Given the description of an element on the screen output the (x, y) to click on. 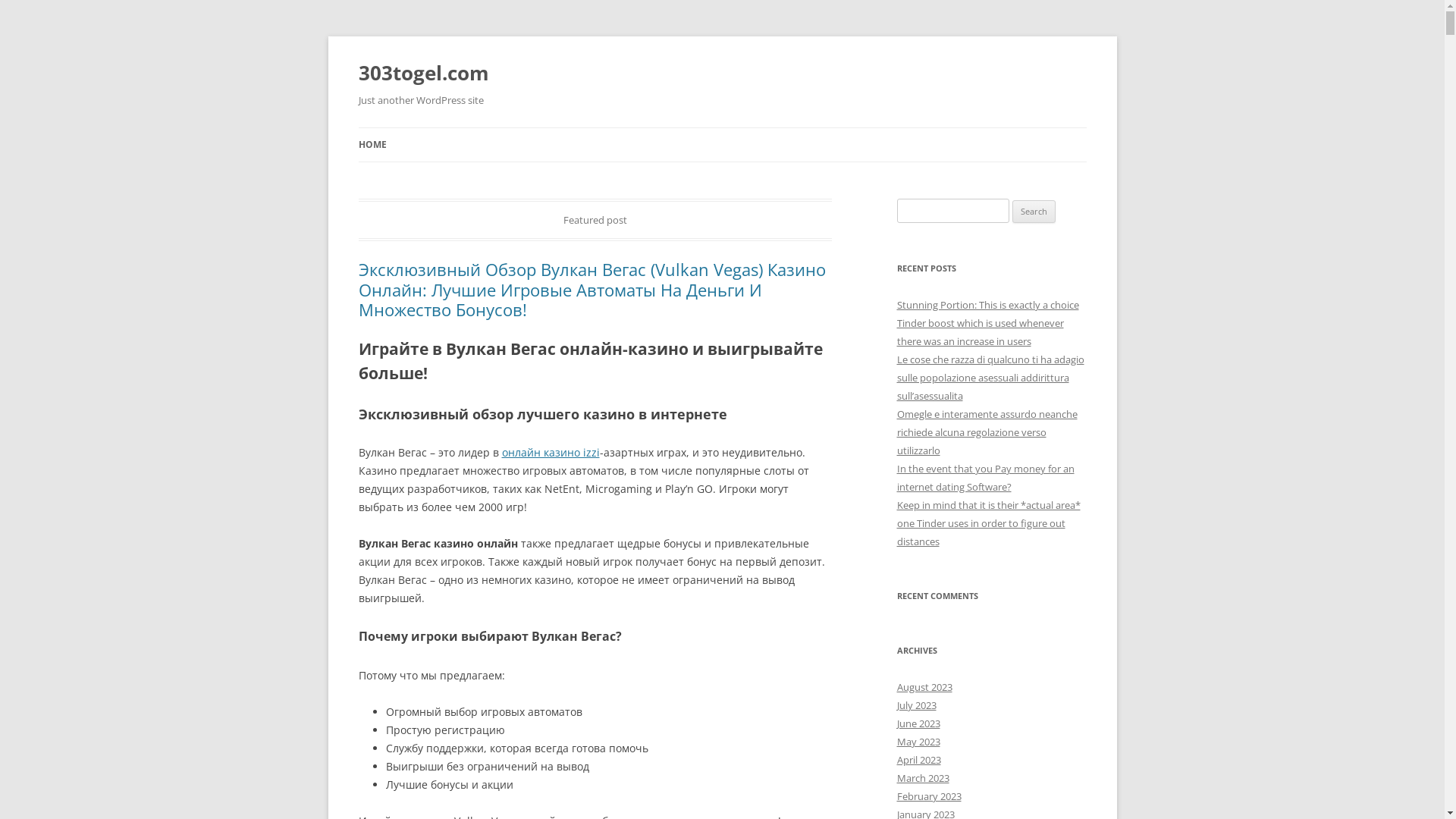
April 2023 Element type: text (918, 759)
303togel.com Element type: text (422, 72)
HOME Element type: text (371, 144)
Skip to content Element type: text (721, 127)
July 2023 Element type: text (915, 705)
Search Element type: text (1033, 211)
June 2023 Element type: text (917, 723)
February 2023 Element type: text (928, 796)
August 2023 Element type: text (923, 686)
March 2023 Element type: text (922, 777)
May 2023 Element type: text (917, 741)
